Given the description of an element on the screen output the (x, y) to click on. 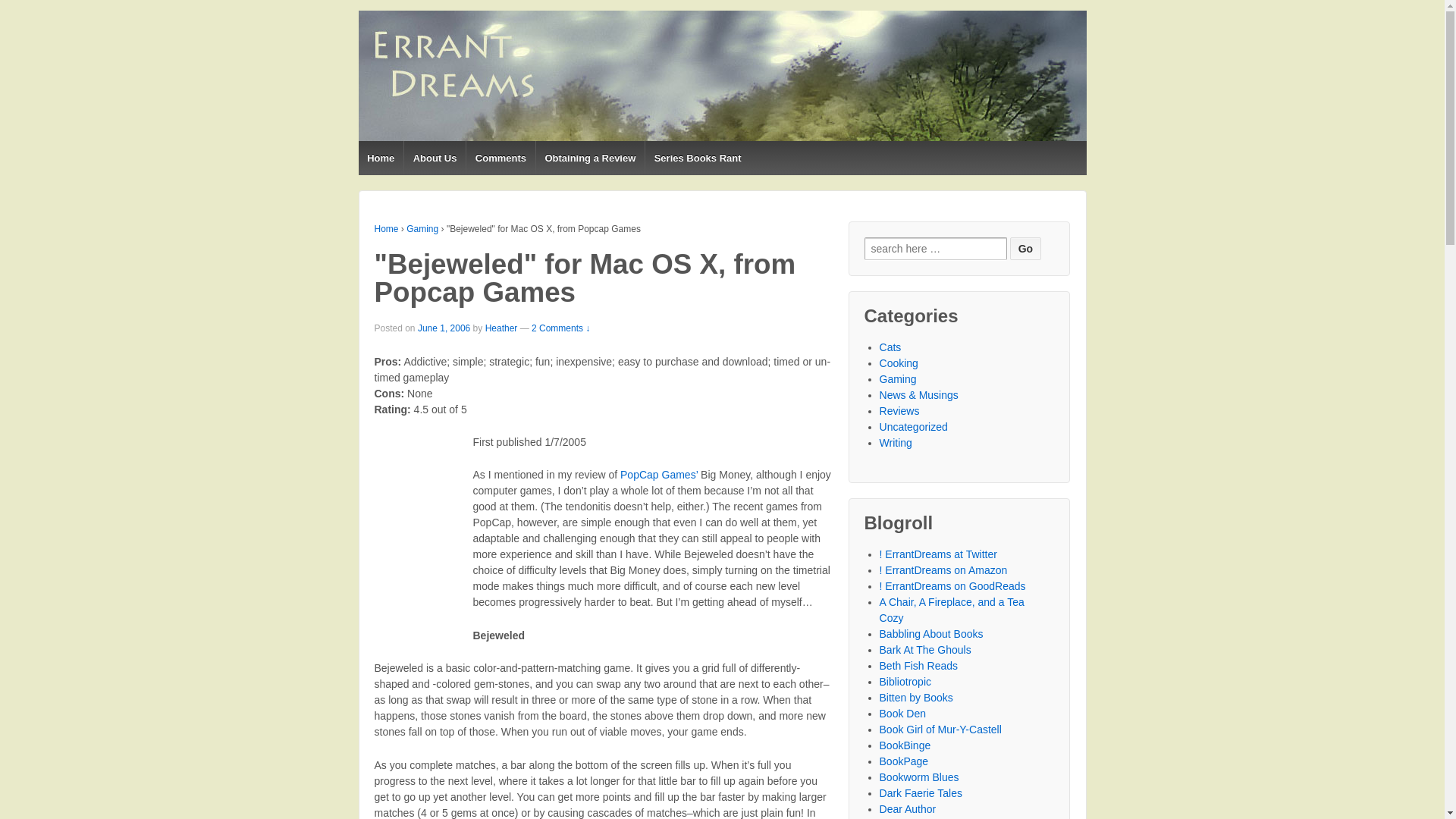
Cooking (898, 363)
Comments (500, 157)
June 1, 2006 (443, 327)
Go (1025, 248)
Home (380, 157)
About Us (434, 157)
Talking about books, TV shows, movies, libraries (952, 610)
"Bejeweled" for Mac OS X, from Popcap Games (443, 327)
YA Paranormal reviews (920, 793)
Reviews (899, 410)
Gaming (422, 228)
Cats (890, 346)
View all posts by Heather (501, 327)
Book reviews (903, 761)
Book reviews and commentary (931, 633)
